Given the description of an element on the screen output the (x, y) to click on. 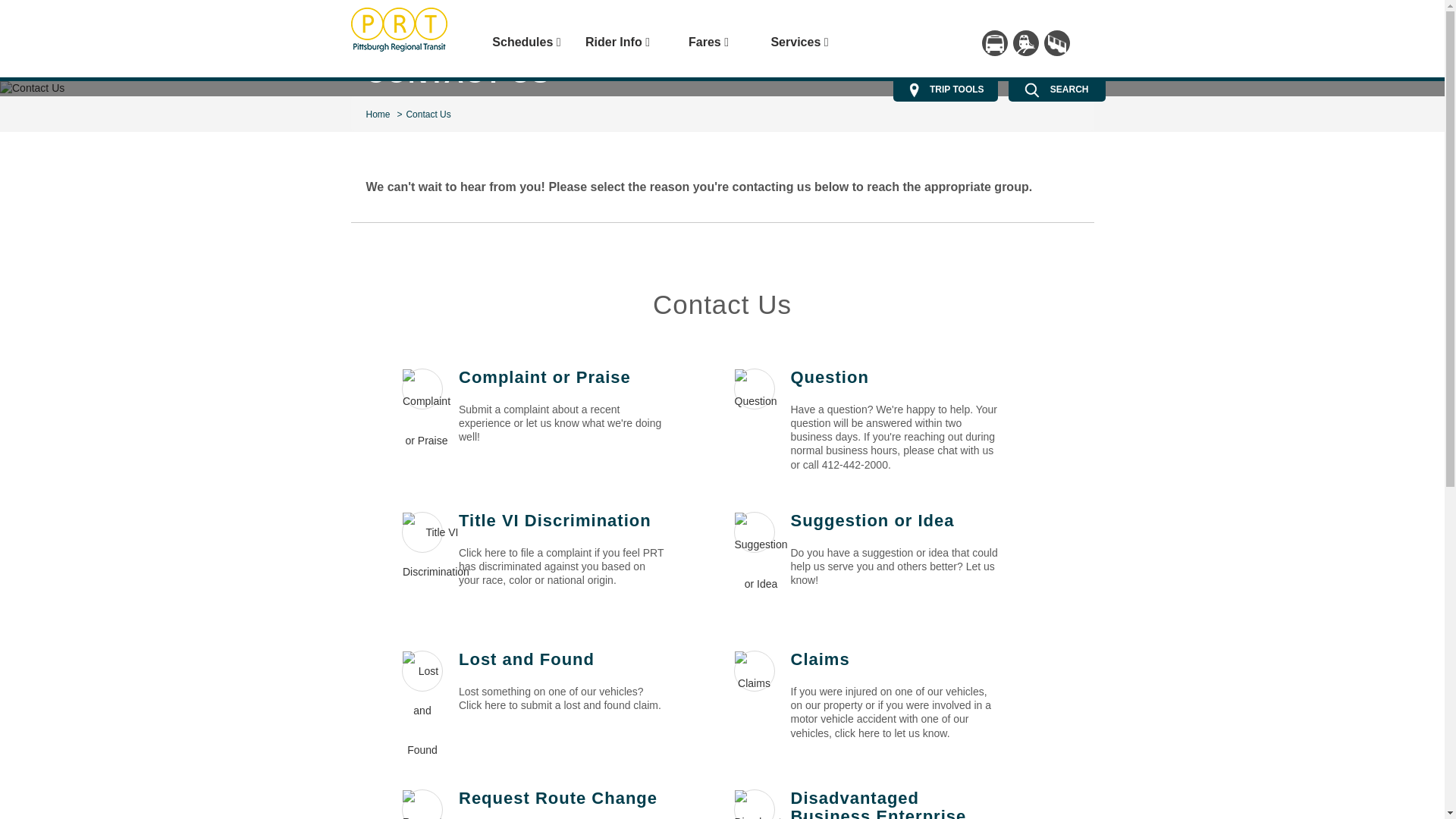
How to Ride the Light Rail System (1026, 43)
Fares (708, 50)
Schedules (526, 50)
Services (799, 50)
How to Ride the Incline (1055, 43)
How to Ride the Bus (994, 43)
Rider Info (617, 50)
